Given the description of an element on the screen output the (x, y) to click on. 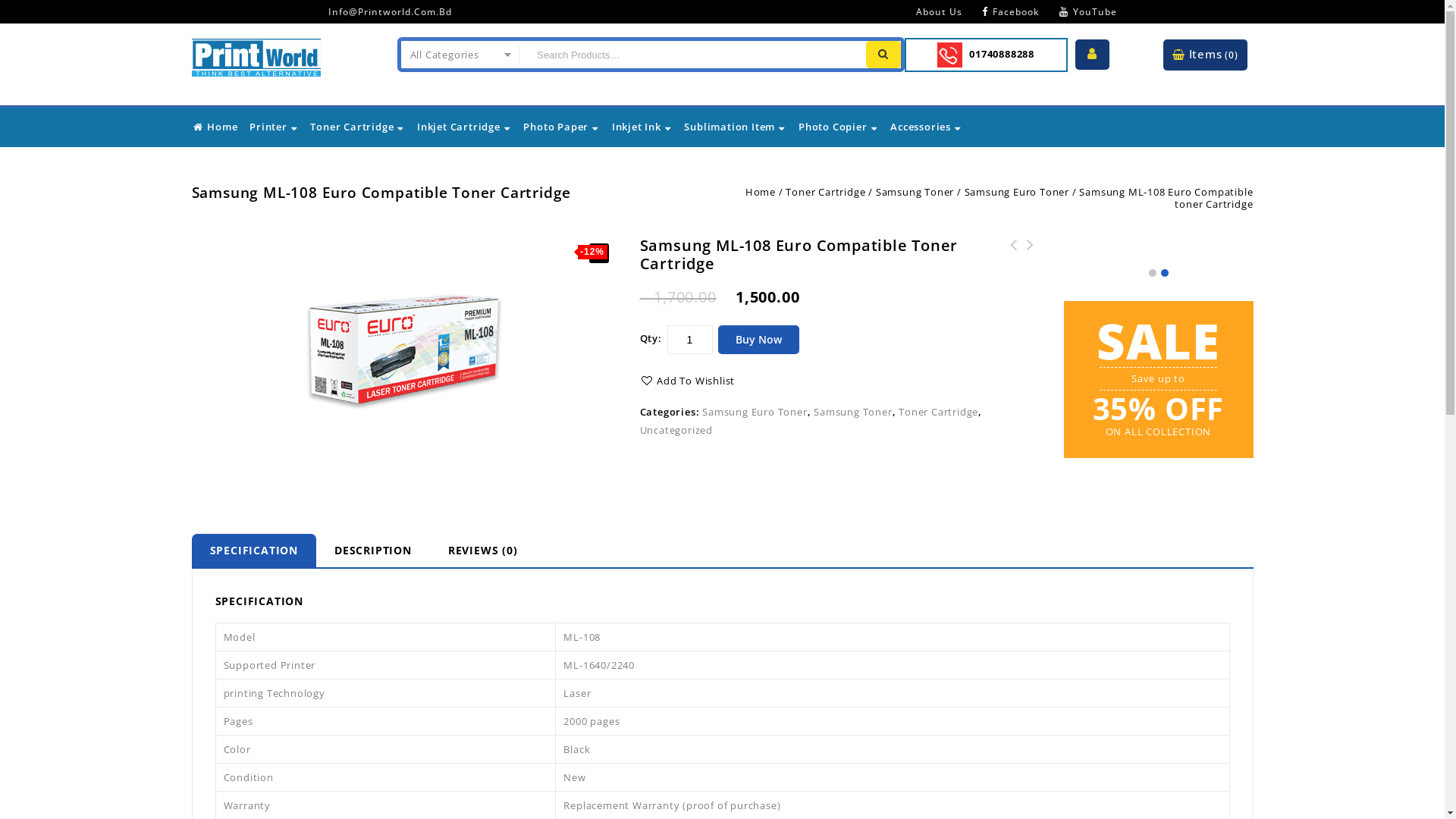
Samsung Toner Element type: text (852, 411)
SPECIFICATION Element type: text (253, 550)
Samsung Euro Toner Element type: text (1016, 191)
Samsung Euro Toner Element type: text (754, 411)
Samsung Toner Element type: text (914, 191)
DESCRIPTION Element type: text (372, 550)
Toner Cartridge Element type: text (825, 191)
Uncategorized Element type: text (676, 429)
Print World| Leading Printer Shop in Bangladesh Element type: hover (255, 54)
ML-108 Element type: hover (403, 348)
Toner Cartridge Element type: text (357, 126)
(0) Element type: text (1230, 54)
Samsung ML-116 Euro Compatible Toner Cartridge Element type: text (1013, 262)
Search Element type: text (883, 54)
Toner Cartridge Element type: text (938, 411)
Inkjet Ink Element type: text (642, 126)
Toshiba e-Studio 2309A Photocopier Element type: text (1030, 262)
Buy Now Element type: text (757, 338)
Accessories Element type: text (926, 126)
Home Element type: text (214, 126)
Qty Element type: hover (689, 338)
Inkjet Cartridge Element type: text (464, 126)
Add To Wishlist Element type: text (687, 380)
Sublimation Item Element type: text (735, 126)
Photo Paper Element type: text (561, 126)
Home Element type: text (760, 191)
Printer Element type: text (273, 126)
REVIEWS (0) Element type: text (482, 550)
Photo Copier Element type: text (837, 126)
Search for: Element type: hover (690, 54)
